Given the description of an element on the screen output the (x, y) to click on. 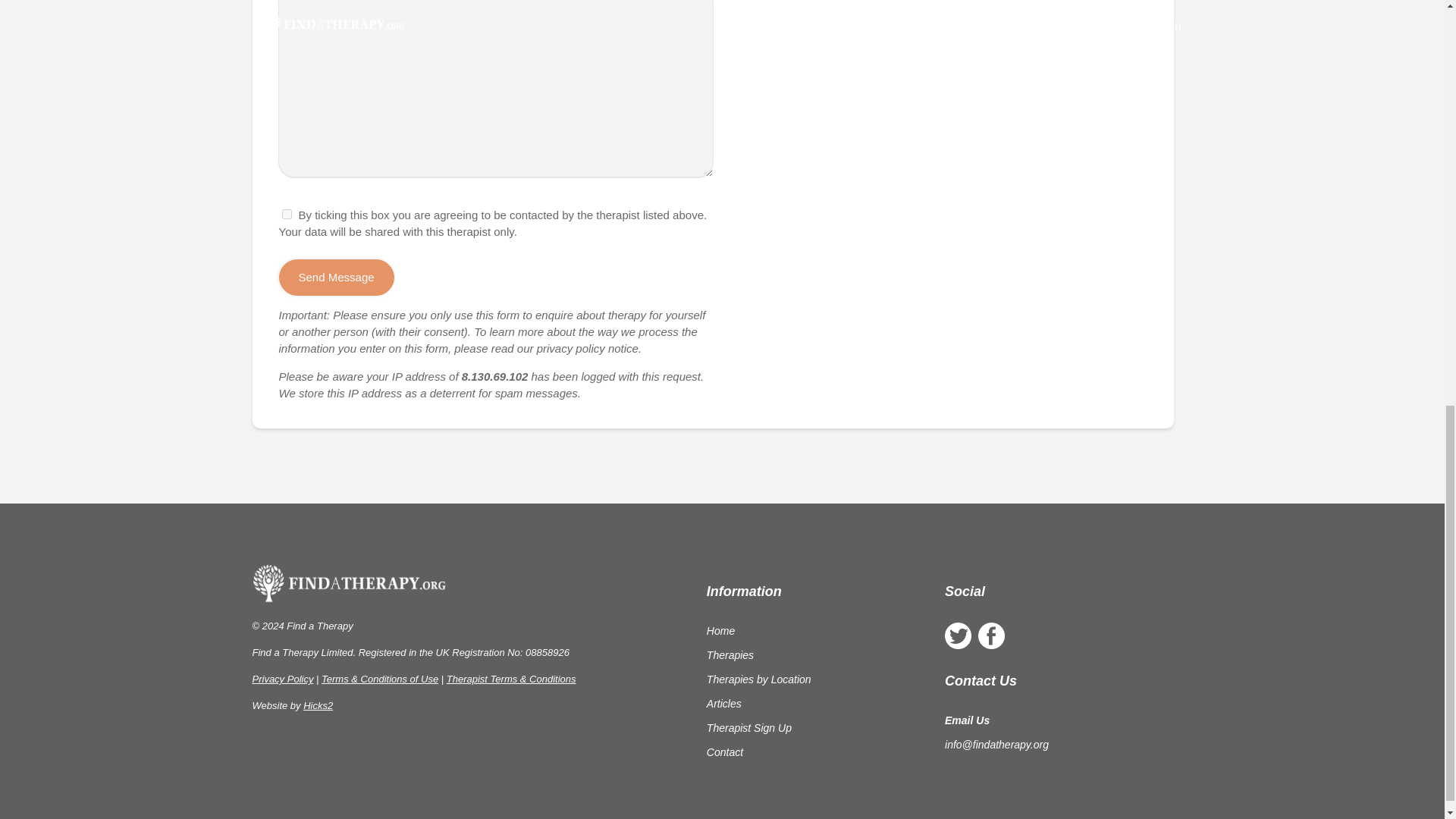
Articles (723, 703)
Privacy Policy (282, 678)
Home (720, 630)
Therapies by Location (758, 679)
Therapies (730, 654)
Send Message (336, 277)
Therapist Sign Up (749, 727)
Contact (724, 752)
Hicks2 (317, 705)
1 (287, 214)
